Given the description of an element on the screen output the (x, y) to click on. 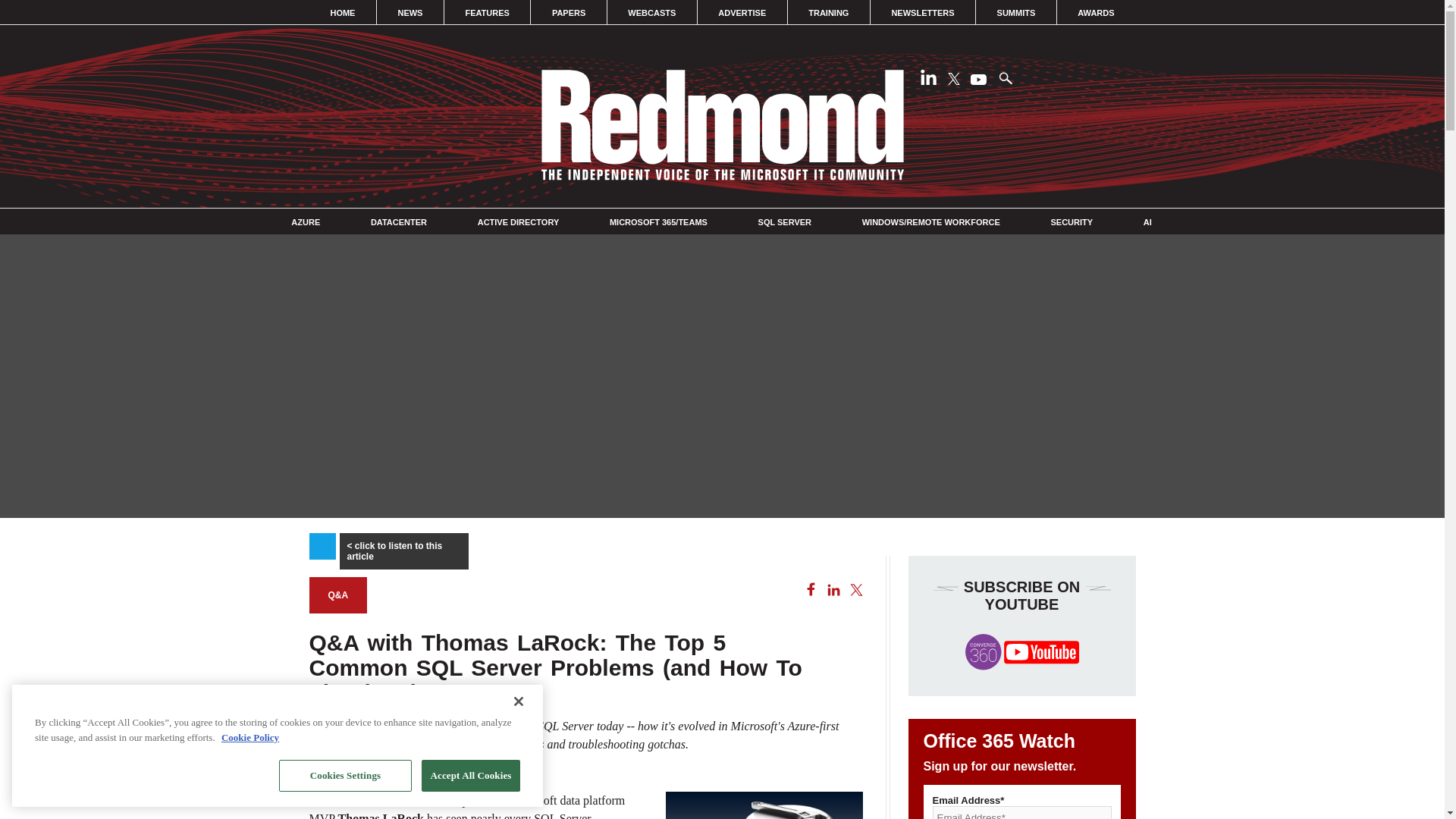
NEWSLETTERS (922, 12)
Gladys Rama (351, 772)
FEATURES (487, 12)
AI (1146, 221)
NEWS (409, 12)
SQL SERVER (785, 221)
3rd party ad content (721, 476)
HOME (342, 12)
ADVERTISE (742, 12)
SECURITY (1071, 221)
ACTIVE DIRECTORY (518, 221)
SUMMITS (1015, 12)
Thomas LaRock (380, 815)
3rd party ad content (206, 687)
DATACENTER (398, 221)
